Given the description of an element on the screen output the (x, y) to click on. 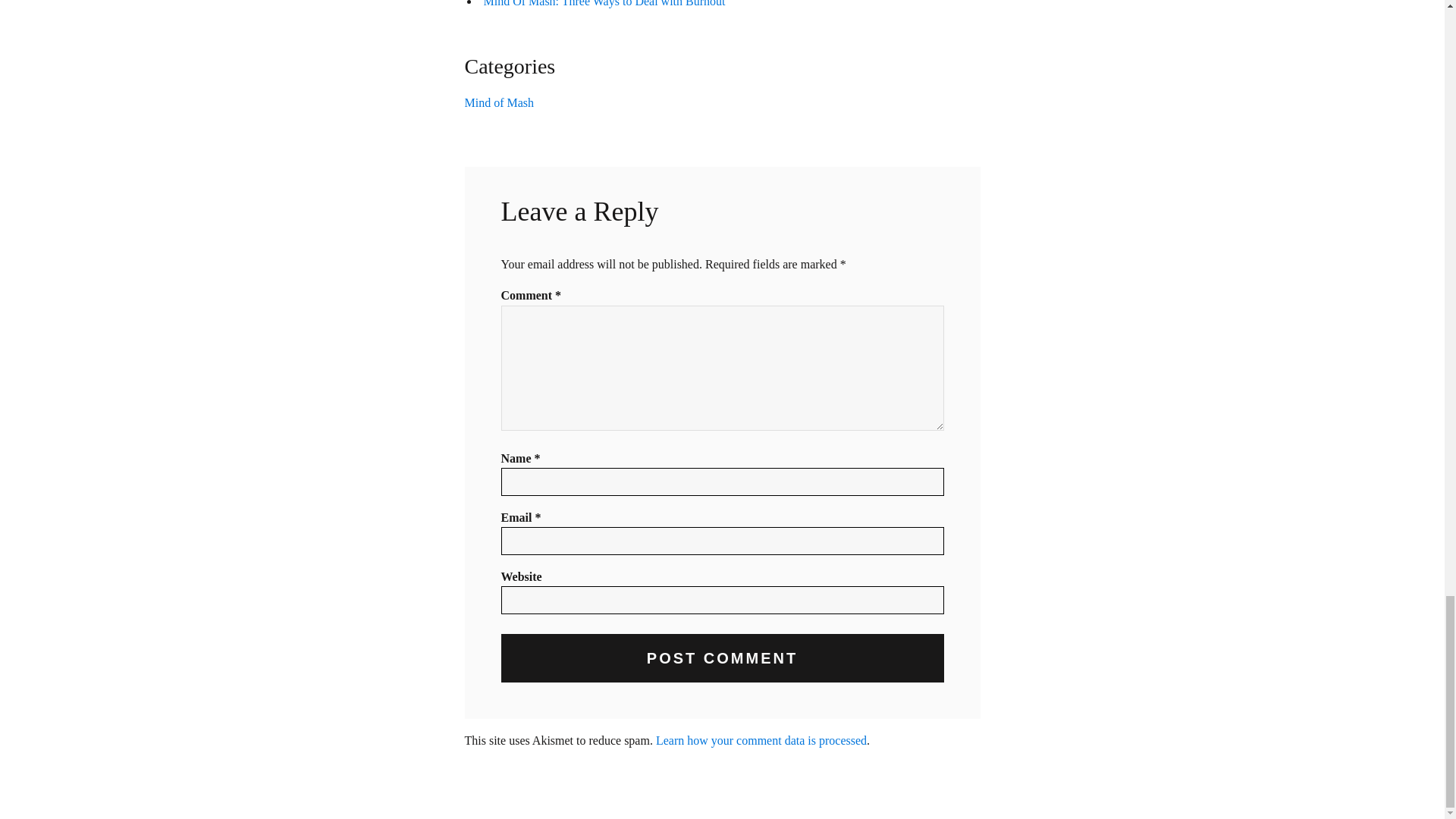
Learn how your comment data is processed (761, 739)
Post Comment (721, 657)
Post Comment (721, 657)
Mind of Mash (499, 102)
Mind Of Mash: Three Ways to Deal with Burnout (604, 3)
